Given the description of an element on the screen output the (x, y) to click on. 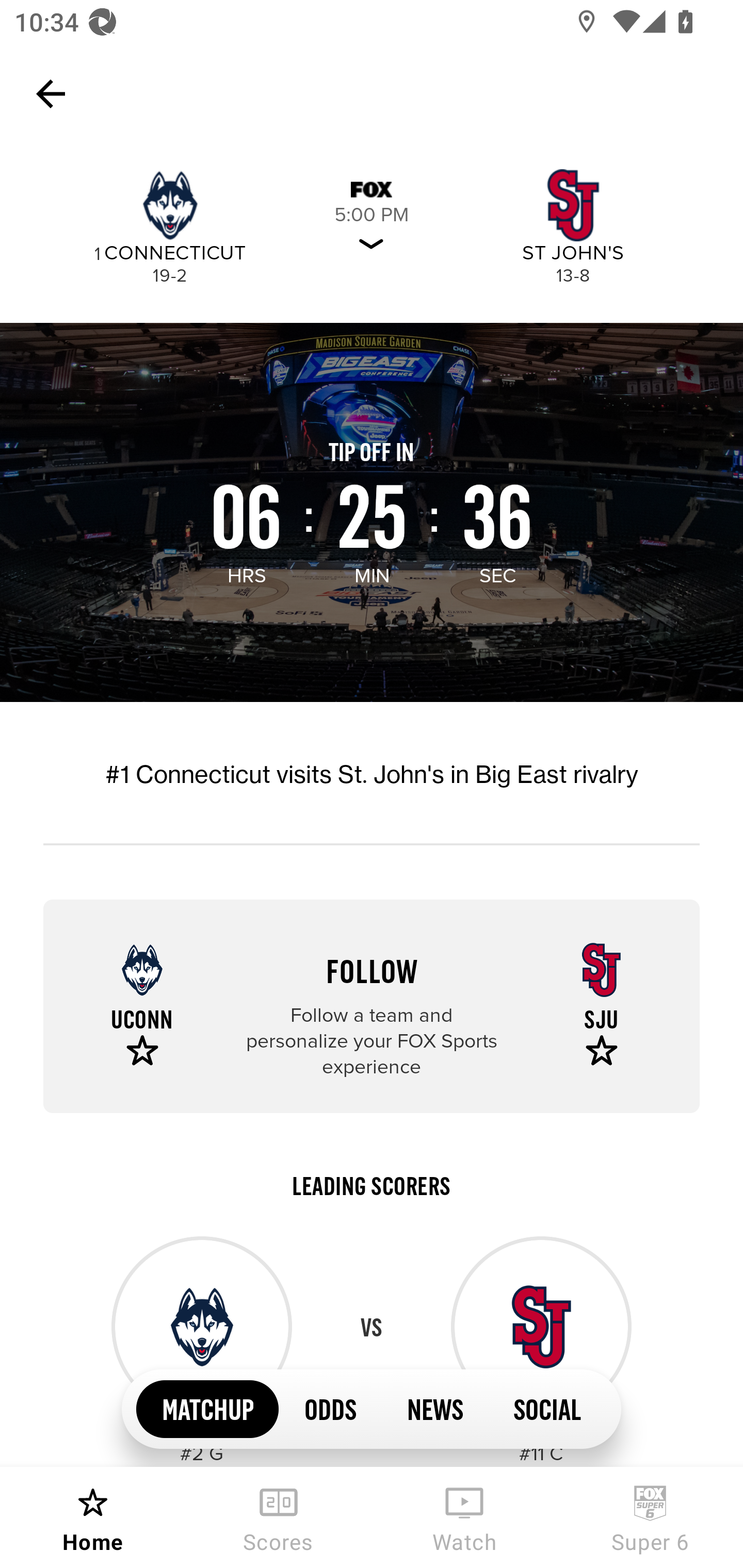
Navigate up (50, 93)
ODDS (329, 1408)
NEWS (434, 1408)
SOCIAL (547, 1408)
Scores (278, 1517)
Watch (464, 1517)
Super 6 (650, 1517)
